Given the description of an element on the screen output the (x, y) to click on. 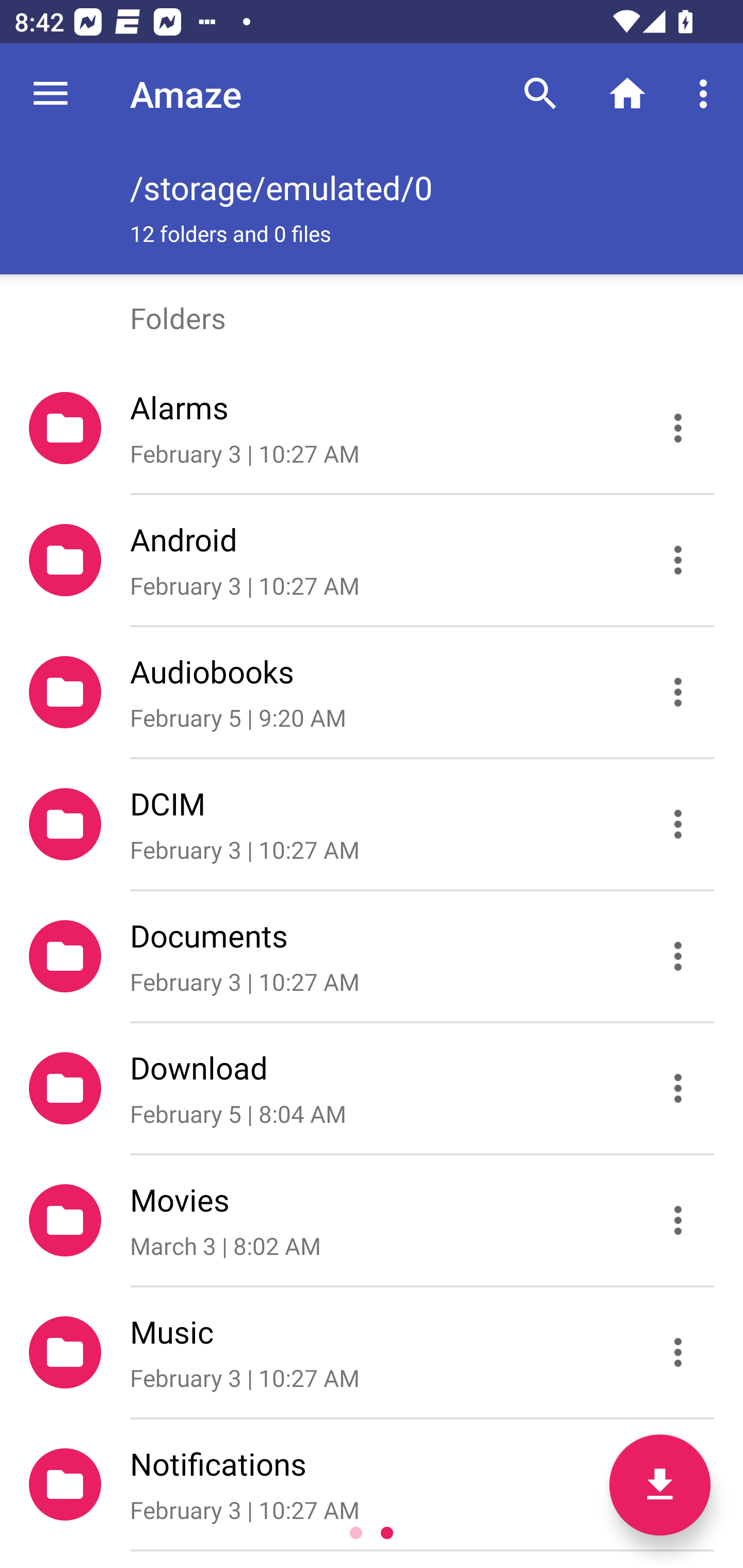
Navigate up (50, 93)
Search (540, 93)
Home (626, 93)
More options (706, 93)
Alarms February 3 | 10:27 AM (371, 427)
Android February 3 | 10:27 AM (371, 560)
Audiobooks February 5 | 9:20 AM (371, 692)
DCIM February 3 | 10:27 AM (371, 823)
Documents February 3 | 10:27 AM (371, 955)
Download February 5 | 8:04 AM (371, 1088)
Movies March 3 | 8:02 AM (371, 1220)
Music February 3 | 10:27 AM (371, 1352)
Notifications February 3 | 10:27 AM (371, 1484)
